Given the description of an element on the screen output the (x, y) to click on. 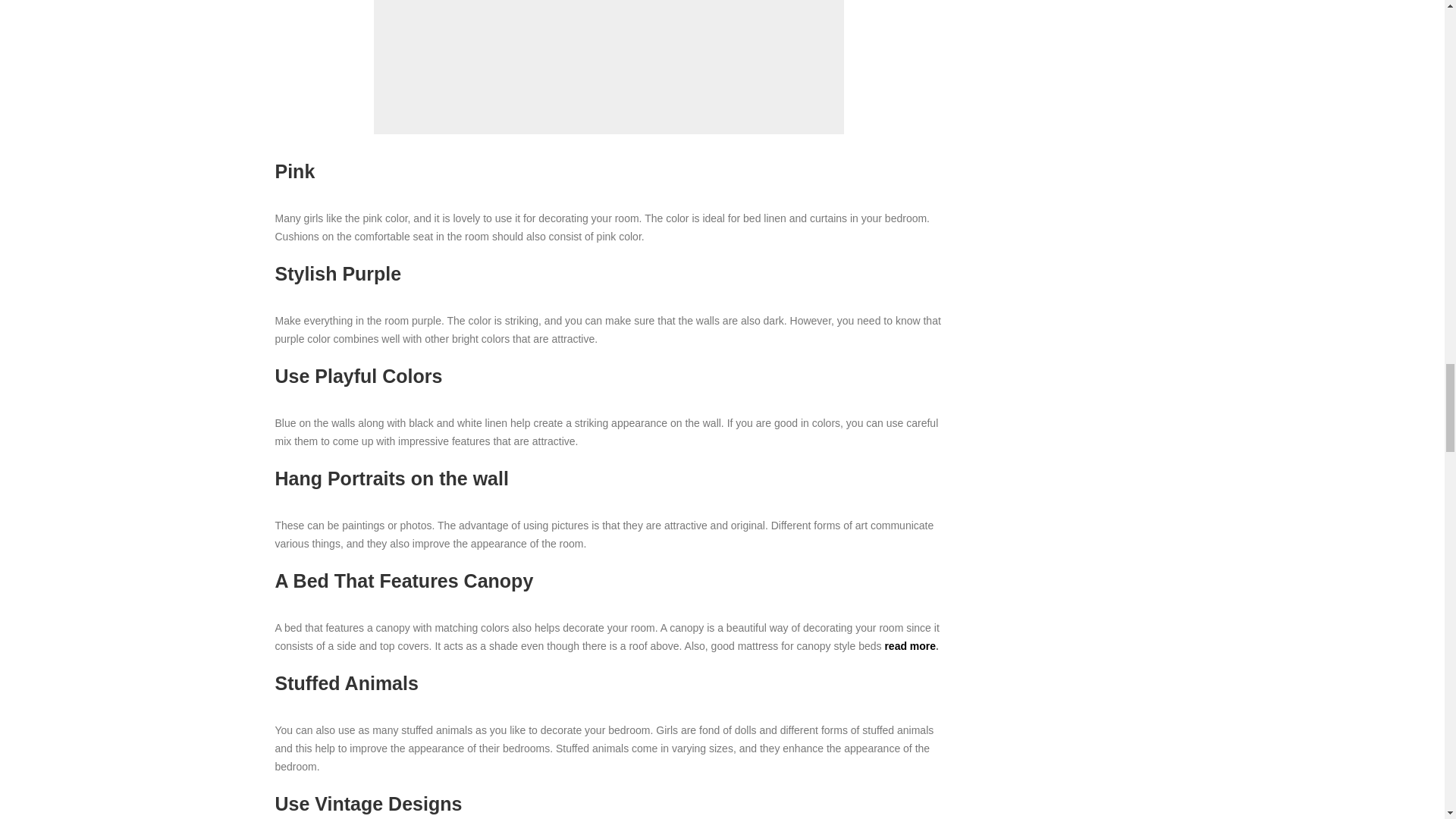
read more (909, 645)
